Given the description of an element on the screen output the (x, y) to click on. 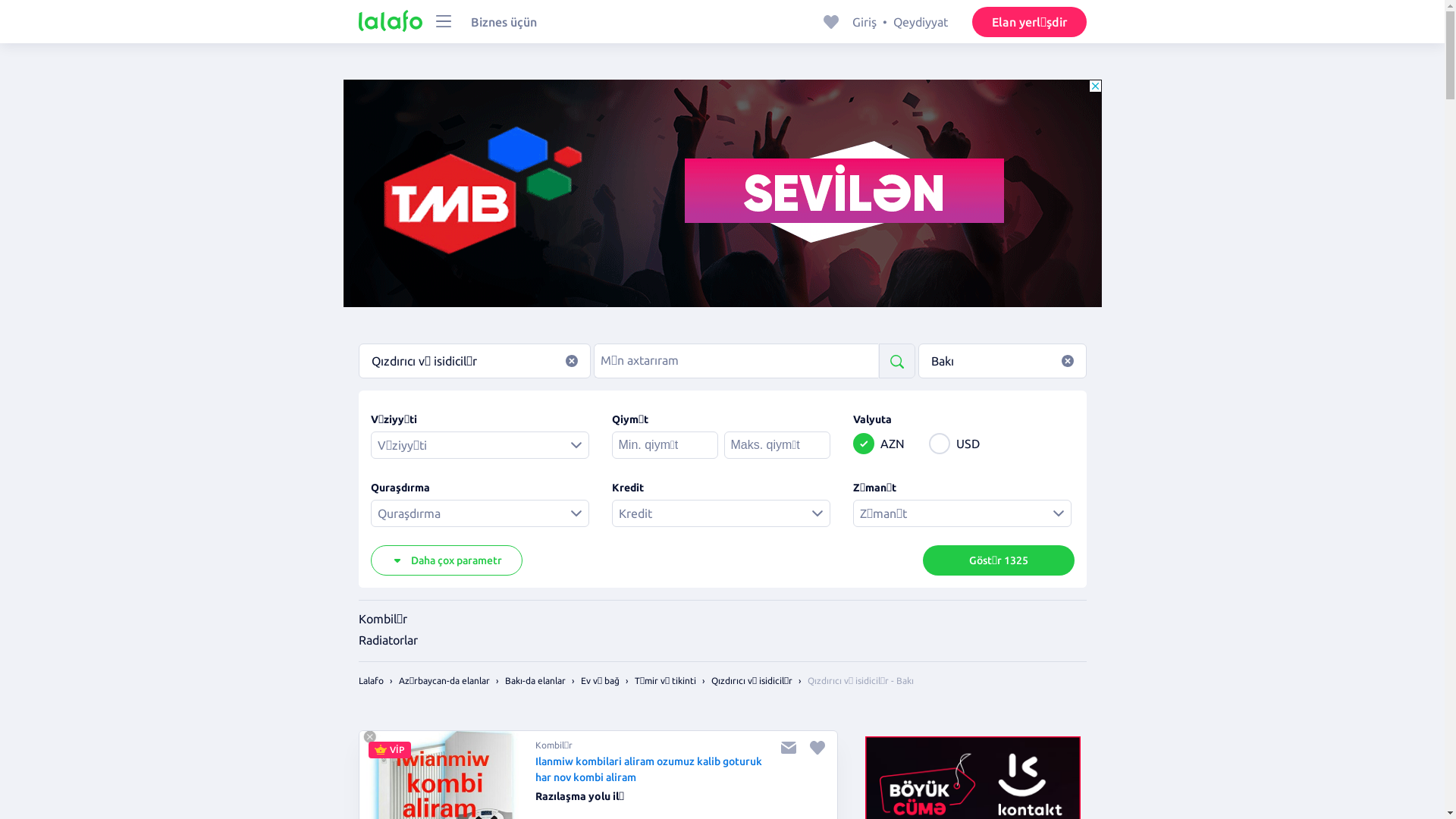
Radiatorlar Element type: text (387, 639)
Lalafo Element type: text (369, 680)
3rd party ad content Element type: hover (721, 193)
